Given the description of an element on the screen output the (x, y) to click on. 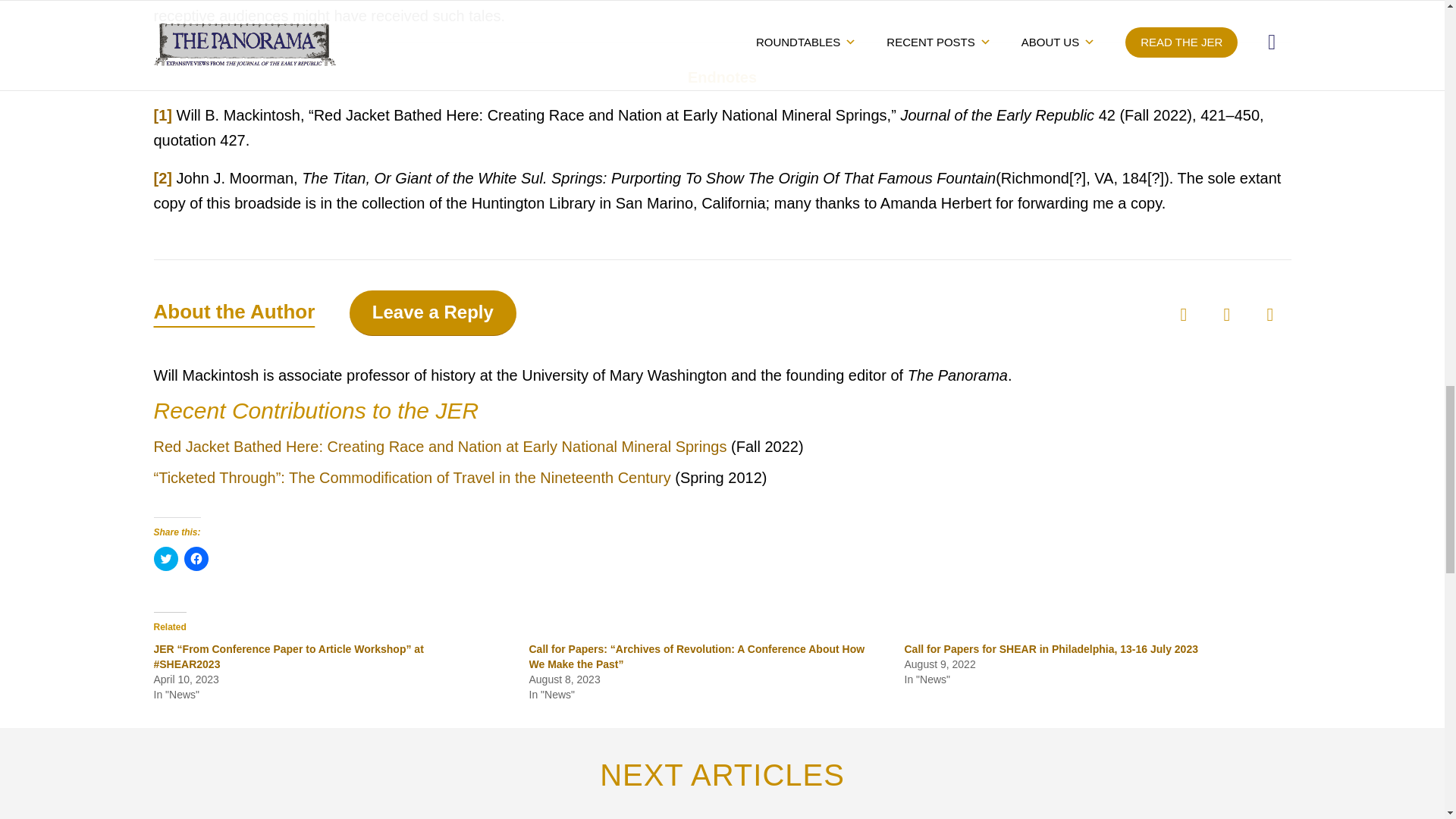
Call for Papers for SHEAR in Philadelphia, 13-16 July 2023 (1050, 648)
Click to share on Twitter (164, 558)
Click to share on Facebook (195, 558)
